Given the description of an element on the screen output the (x, y) to click on. 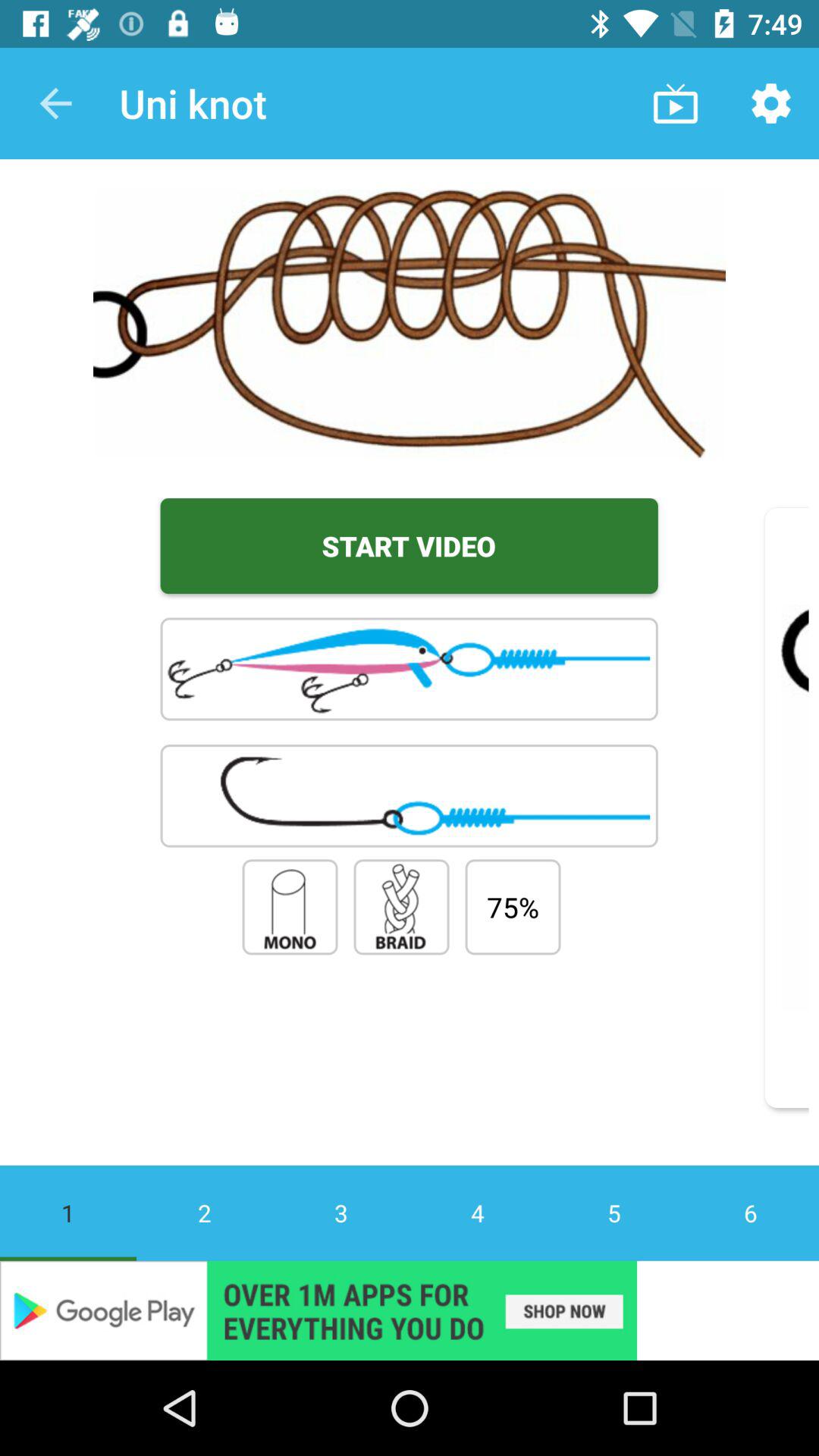
go to advertisement (409, 1310)
